Given the description of an element on the screen output the (x, y) to click on. 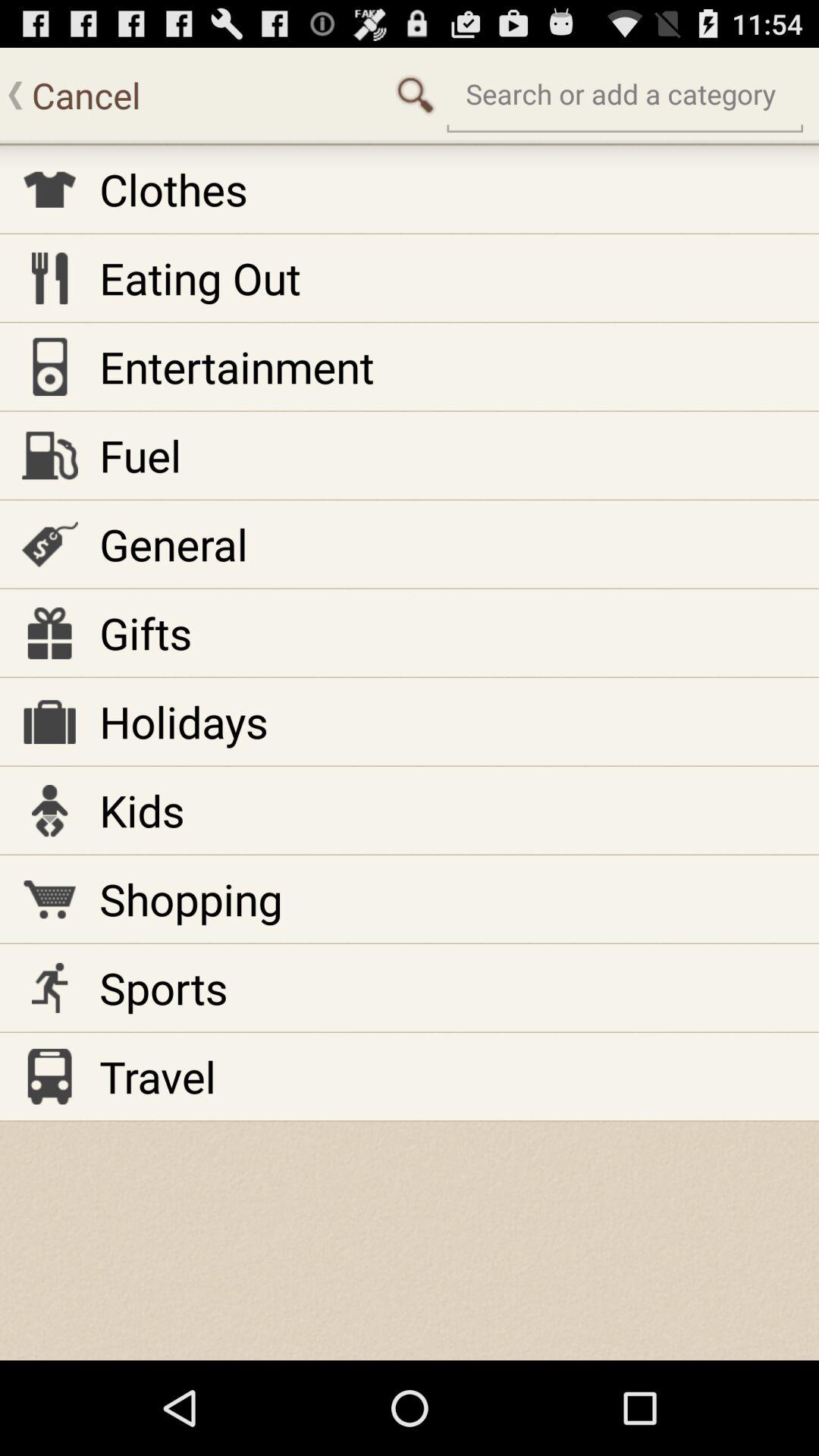
open the icon above the fuel item (236, 366)
